Given the description of an element on the screen output the (x, y) to click on. 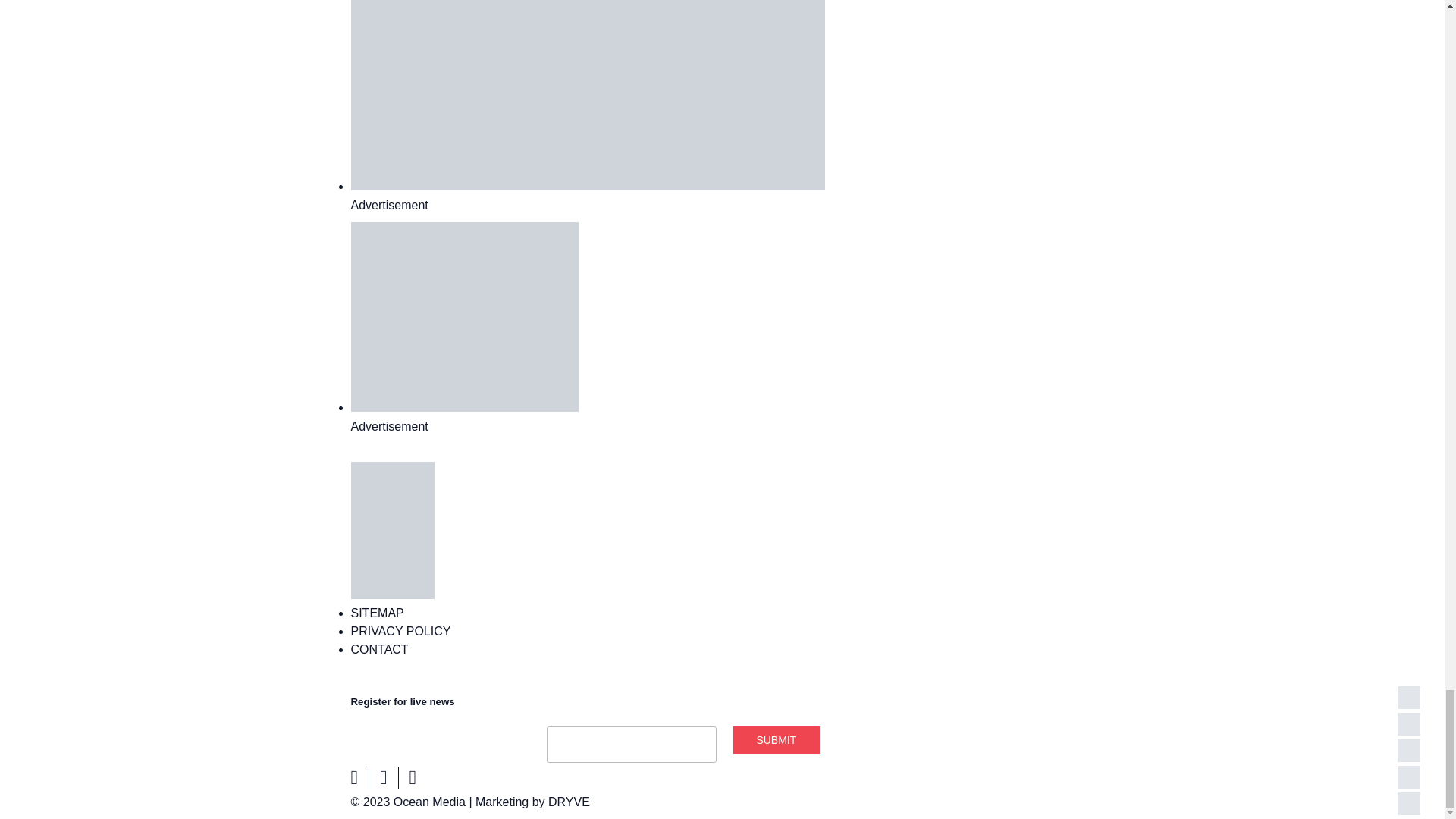
Submit (776, 739)
